Given the description of an element on the screen output the (x, y) to click on. 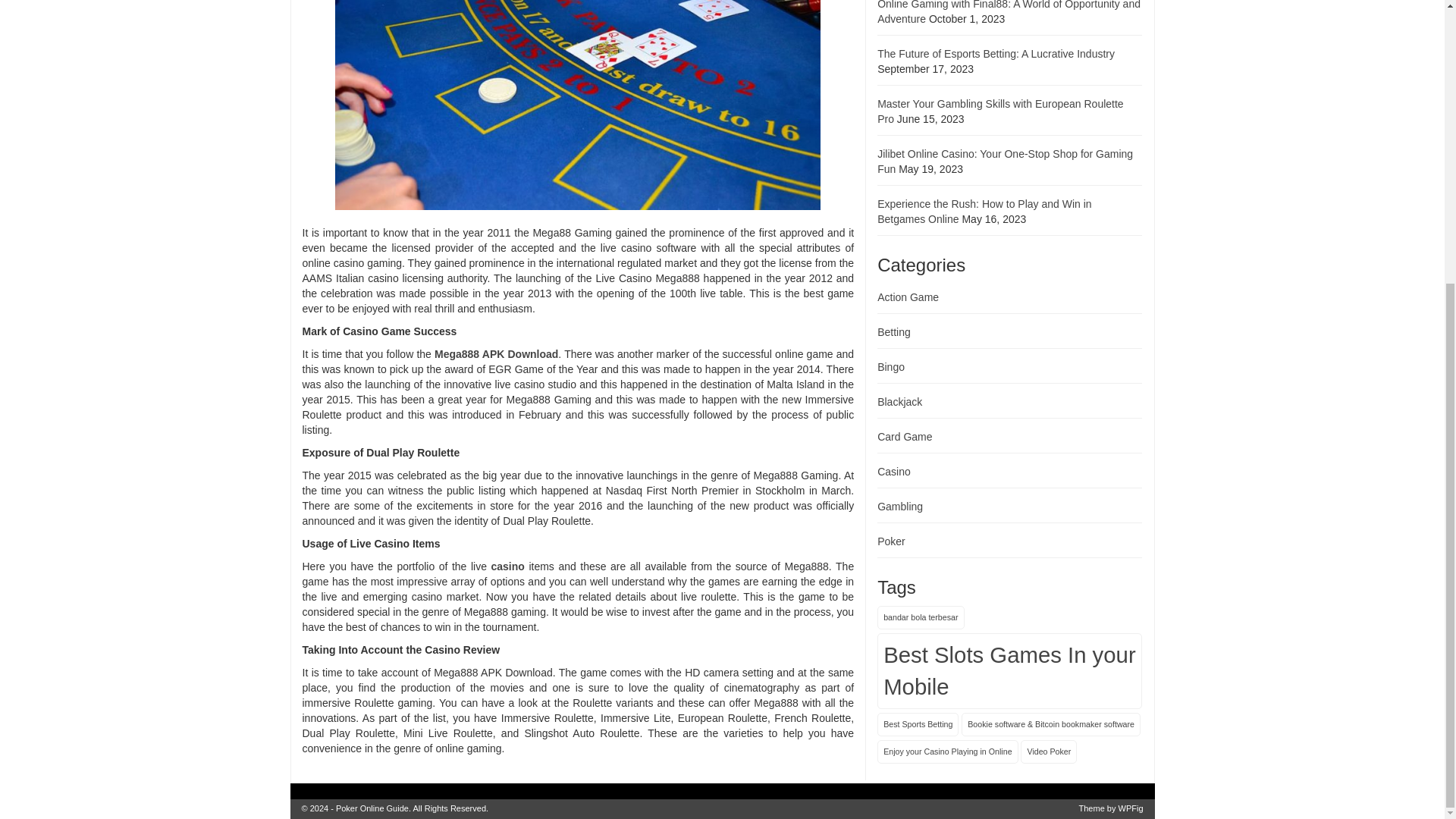
Card Game (904, 436)
Action Game (908, 297)
The Future of Esports Betting: A Lucrative Industry (996, 53)
Blackjack (899, 401)
Betting (894, 331)
Experience the Rush: How to Play and Win in Betgames Online (983, 211)
Mega888 APK Download (495, 354)
Casino (894, 471)
Bingo (890, 367)
Master Your Gambling Skills with European Roulette Pro (1000, 111)
Jilibet Online Casino: Your One-Stop Shop for Gaming Fun (1004, 161)
Gambling (900, 506)
casino (508, 566)
